Given the description of an element on the screen output the (x, y) to click on. 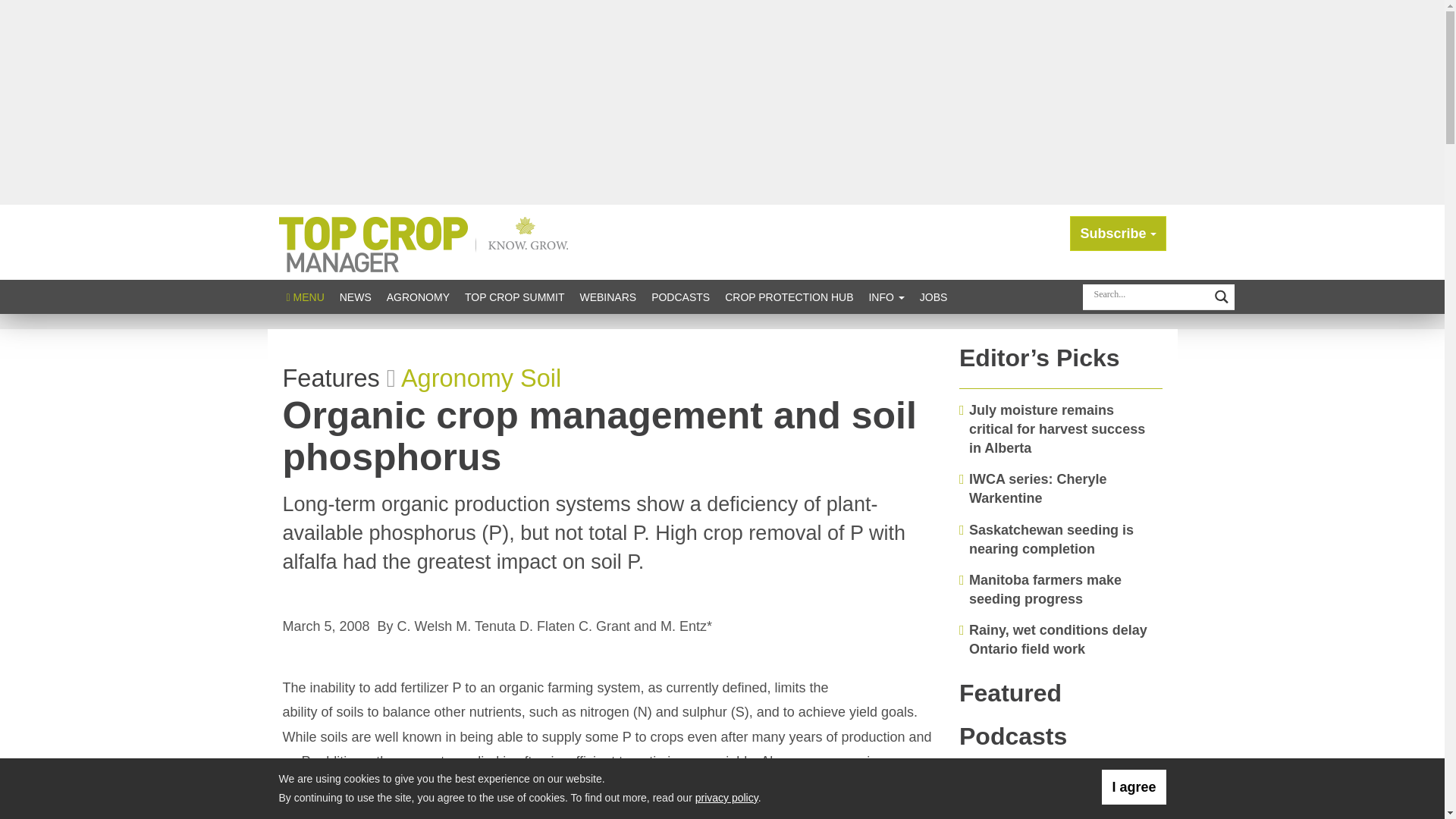
Click to show site navigation (305, 296)
CROP PROTECTION HUB (788, 296)
INFO (885, 296)
MENU (305, 296)
Subscribe (1118, 233)
TOP CROP SUMMIT (514, 296)
AGRONOMY (417, 296)
JOBS (933, 296)
NEWS (354, 296)
